Given the description of an element on the screen output the (x, y) to click on. 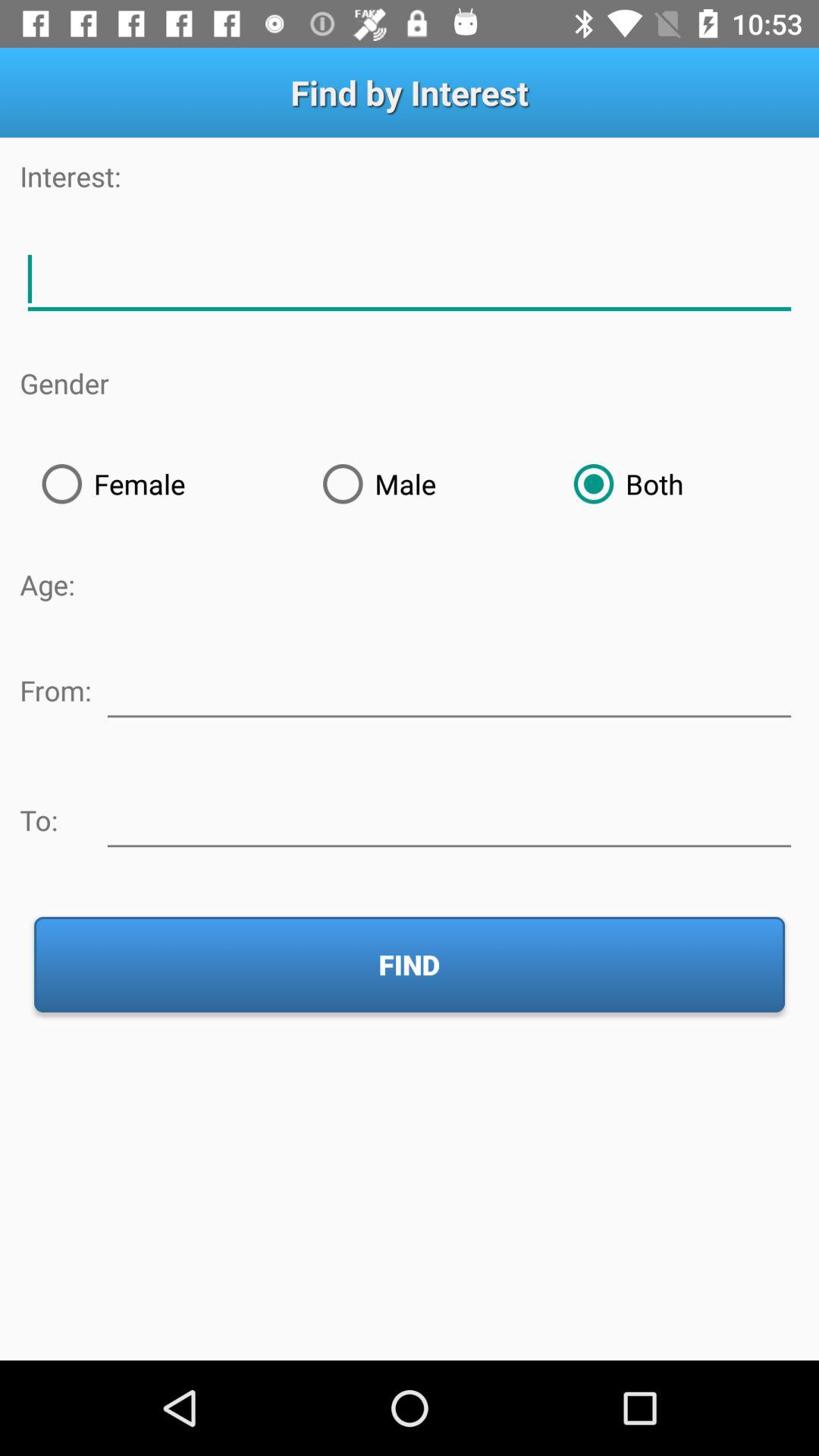
select the male (426, 483)
